Given the description of an element on the screen output the (x, y) to click on. 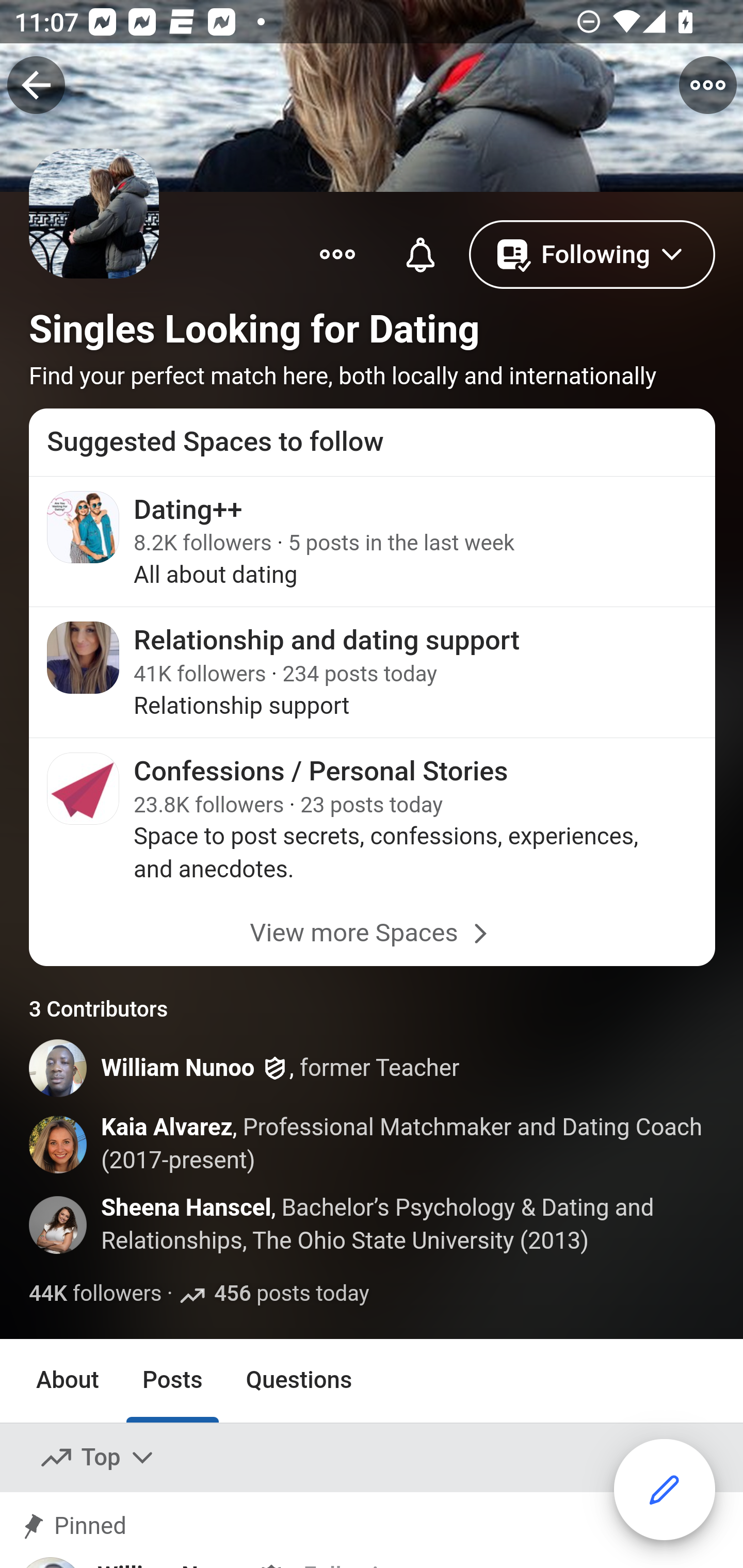
More (337, 252)
Personalized (420, 252)
Following (591, 252)
Singles Looking for Dating (254, 329)
View more Spaces (372, 932)
Profile photo for William Nunoo (58, 1067)
William Nunoo (178, 1068)
Kaia Alvarez (166, 1128)
Profile photo for Kaia Alvarez (58, 1145)
Sheena Hanscel (186, 1208)
Profile photo for Sheena Hanscel (58, 1224)
About (68, 1380)
Posts (171, 1380)
Questions (299, 1380)
Top (97, 1457)
